Given the description of an element on the screen output the (x, y) to click on. 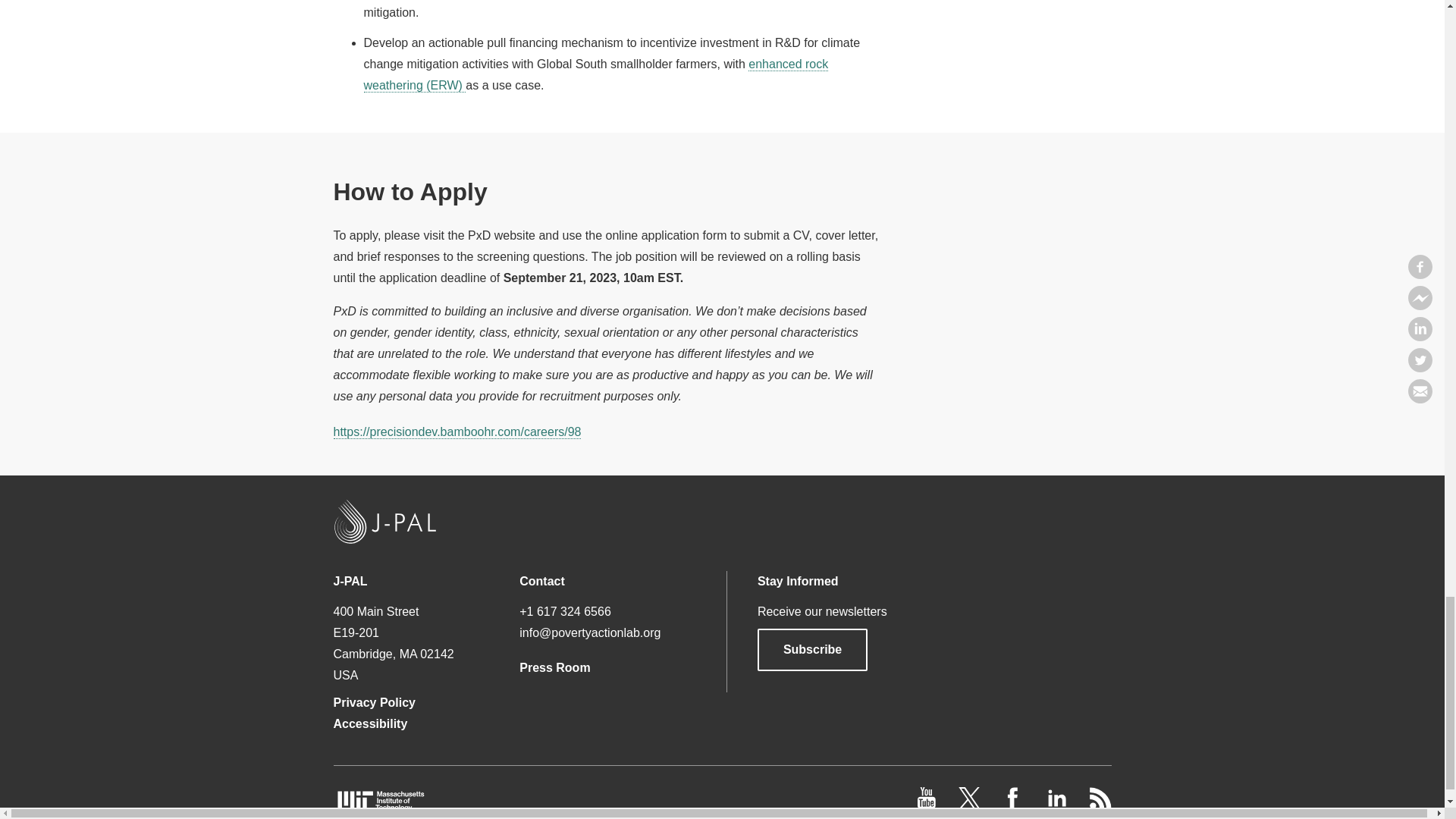
LinkedIn (1057, 804)
twitter (971, 804)
youtube (927, 804)
facebook (1015, 804)
rss feed (1099, 804)
